Given the description of an element on the screen output the (x, y) to click on. 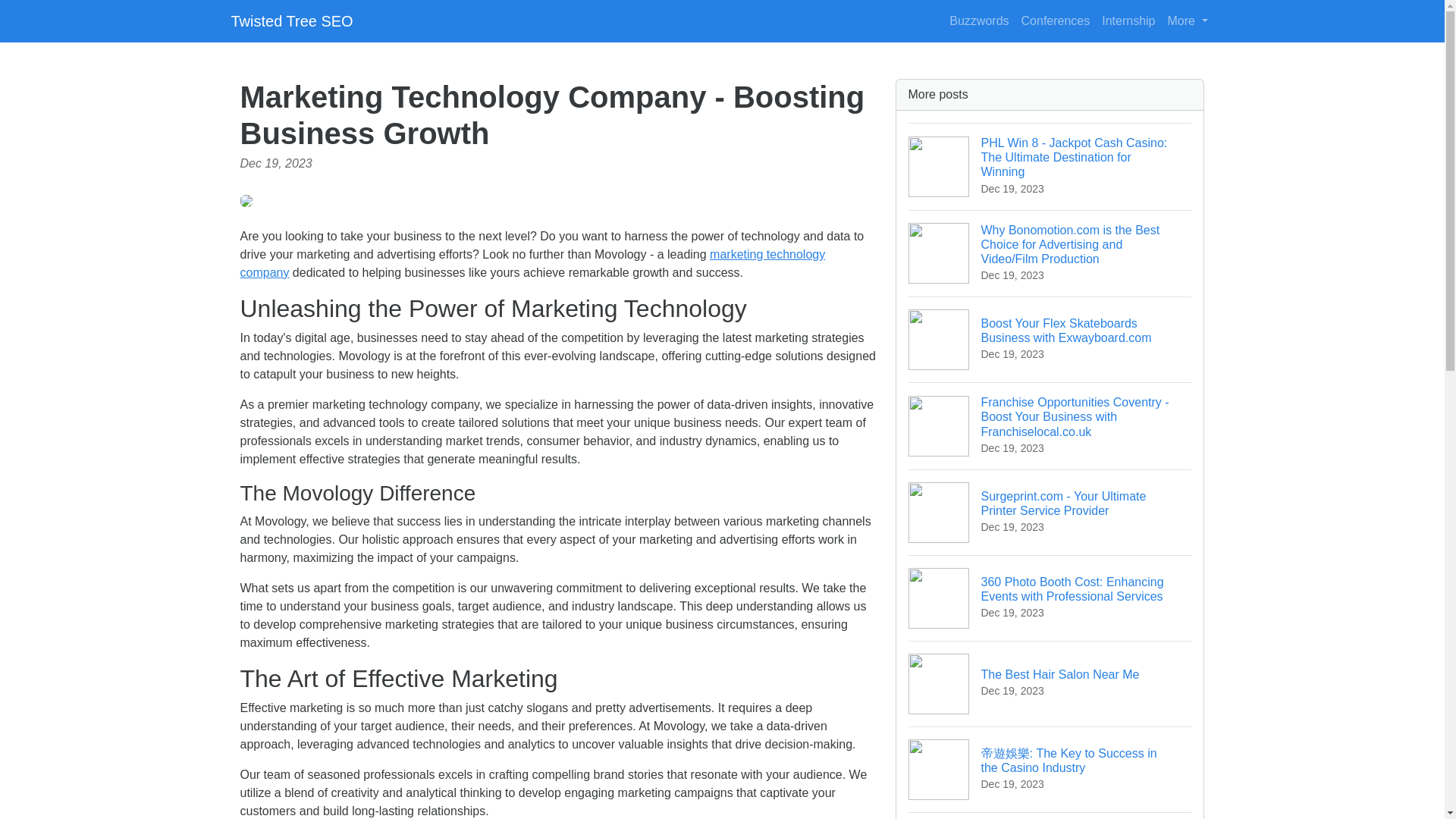
Buzzwords (1050, 683)
More (978, 20)
Conferences (1187, 20)
marketing technology company (1055, 20)
Twisted Tree SEO (532, 263)
